Given the description of an element on the screen output the (x, y) to click on. 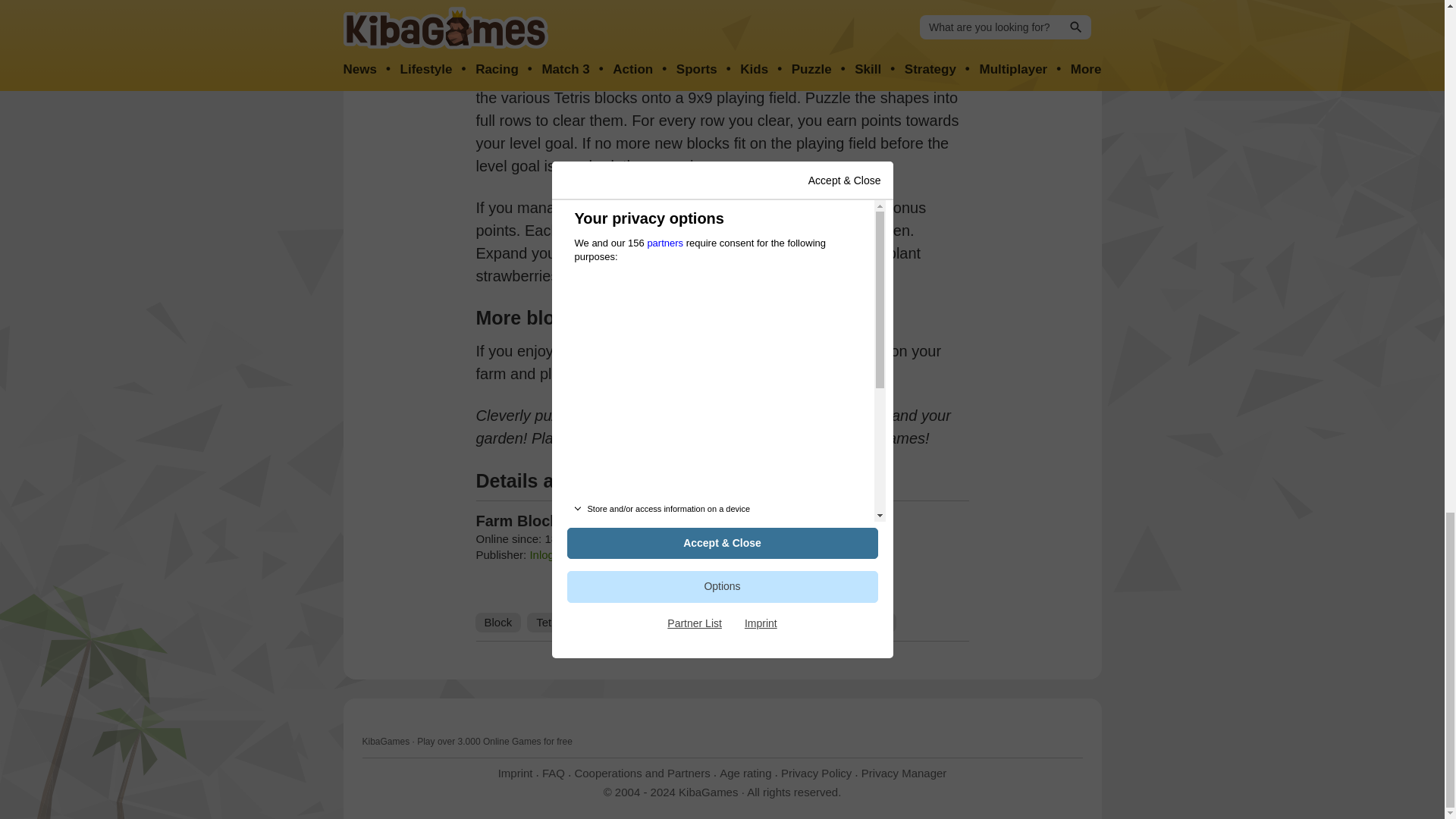
Inlogic (545, 554)
Block (497, 622)
Farming 10x10 (622, 373)
